Given the description of an element on the screen output the (x, y) to click on. 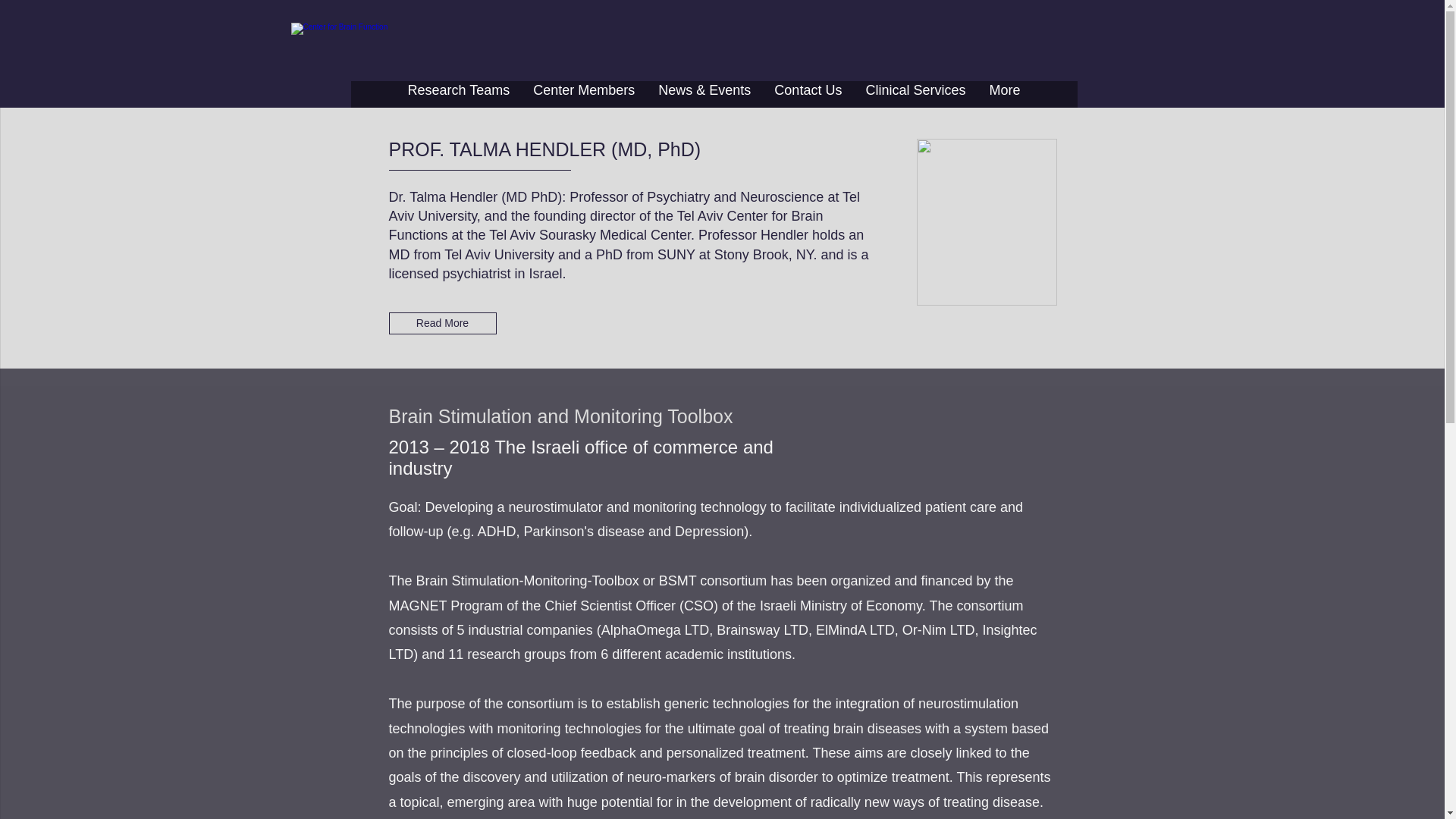
Contact Us (807, 94)
Read More (442, 323)
Clinical Services (914, 94)
